Given the description of an element on the screen output the (x, y) to click on. 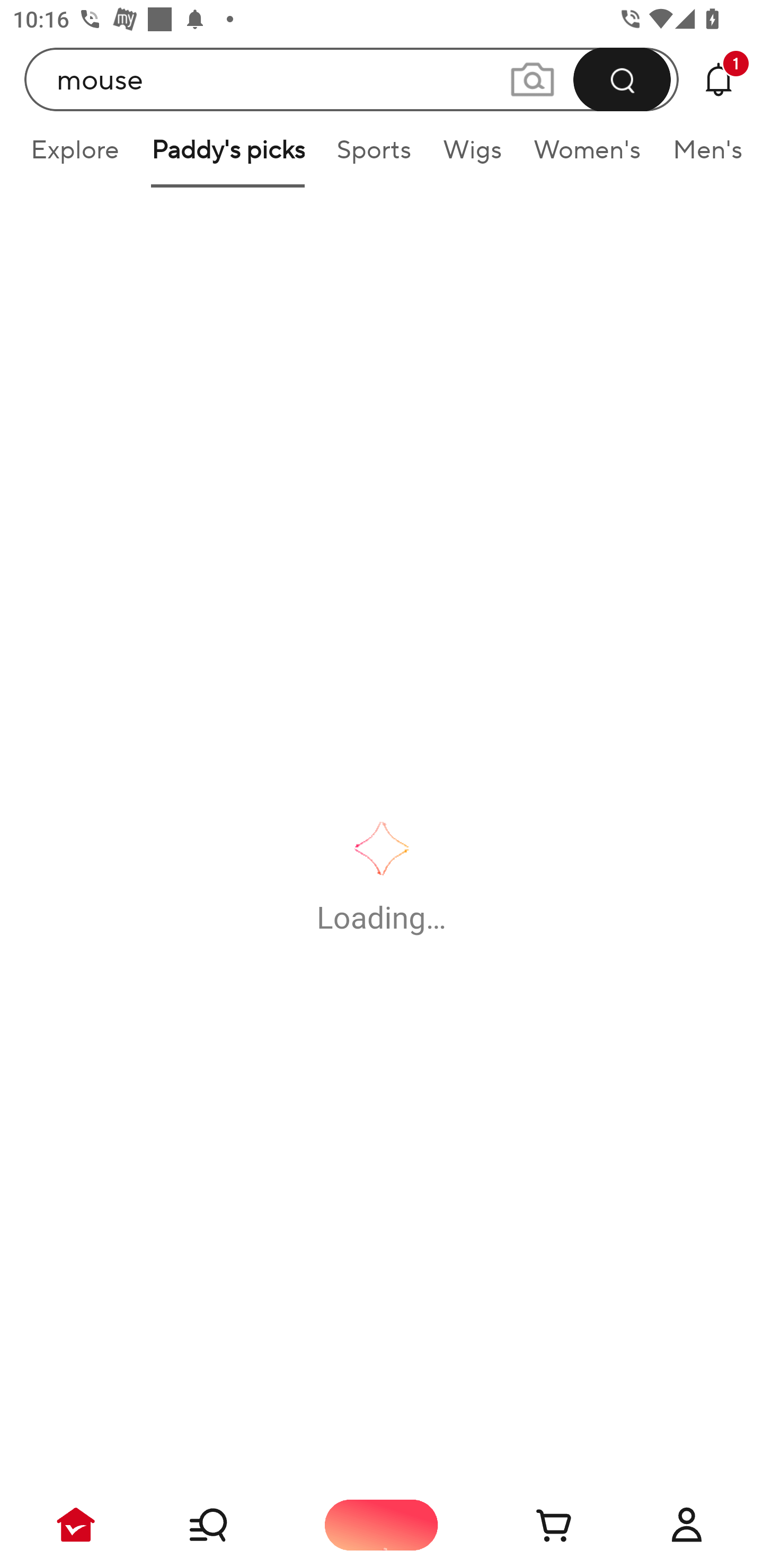
mouse (351, 79)
Explore (74, 155)
Sports (373, 155)
Wigs (472, 155)
Women's (586, 155)
Men's (701, 155)
Shop (228, 1524)
Cart (533, 1524)
Account (686, 1524)
